Given the description of an element on the screen output the (x, y) to click on. 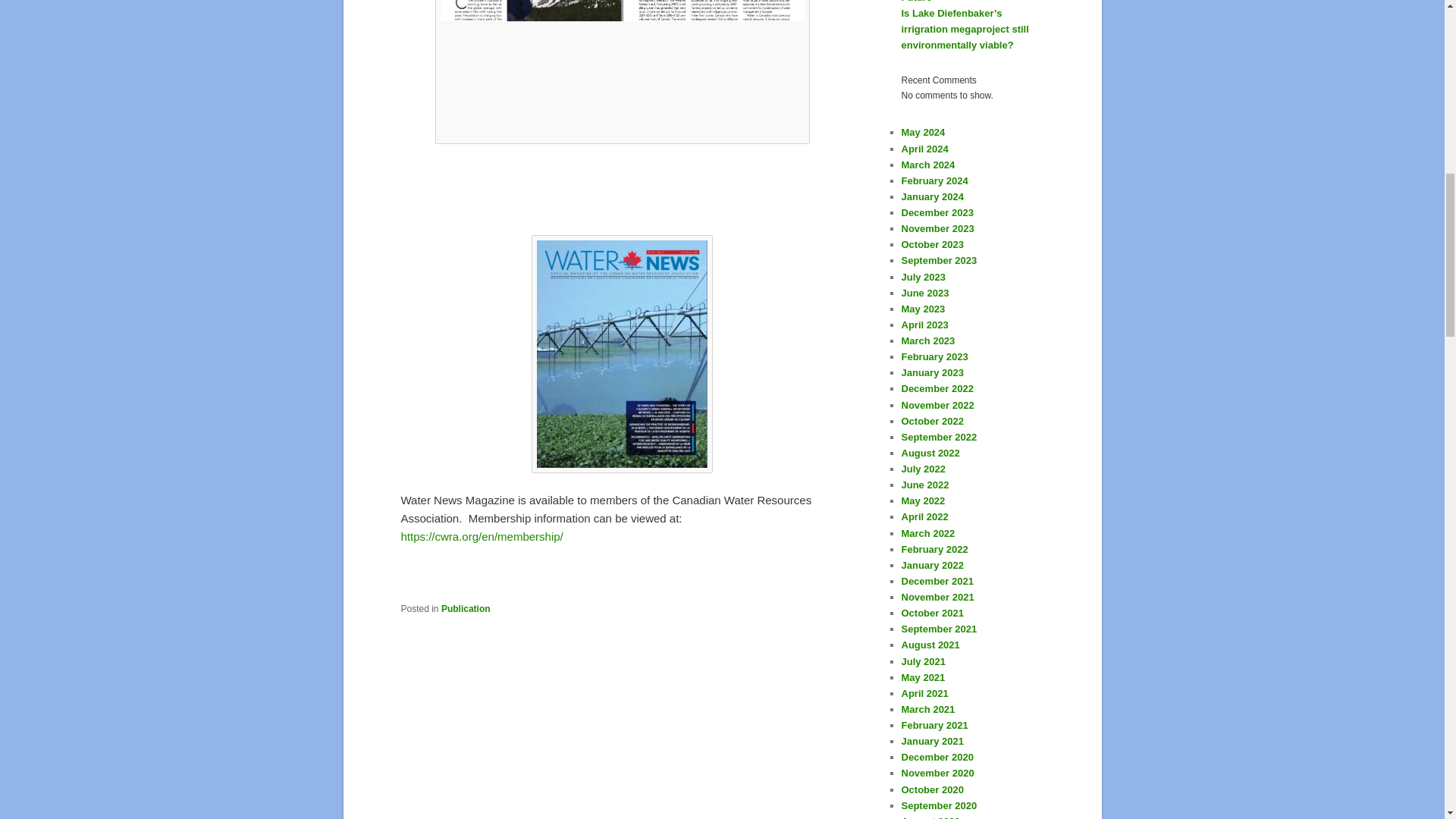
January 2024 (931, 196)
May 2024 (922, 132)
December 2023 (936, 212)
Publication (465, 608)
October 2023 (931, 244)
March 2024 (928, 164)
November 2023 (937, 228)
February 2024 (934, 180)
April 2024 (924, 147)
